Given the description of an element on the screen output the (x, y) to click on. 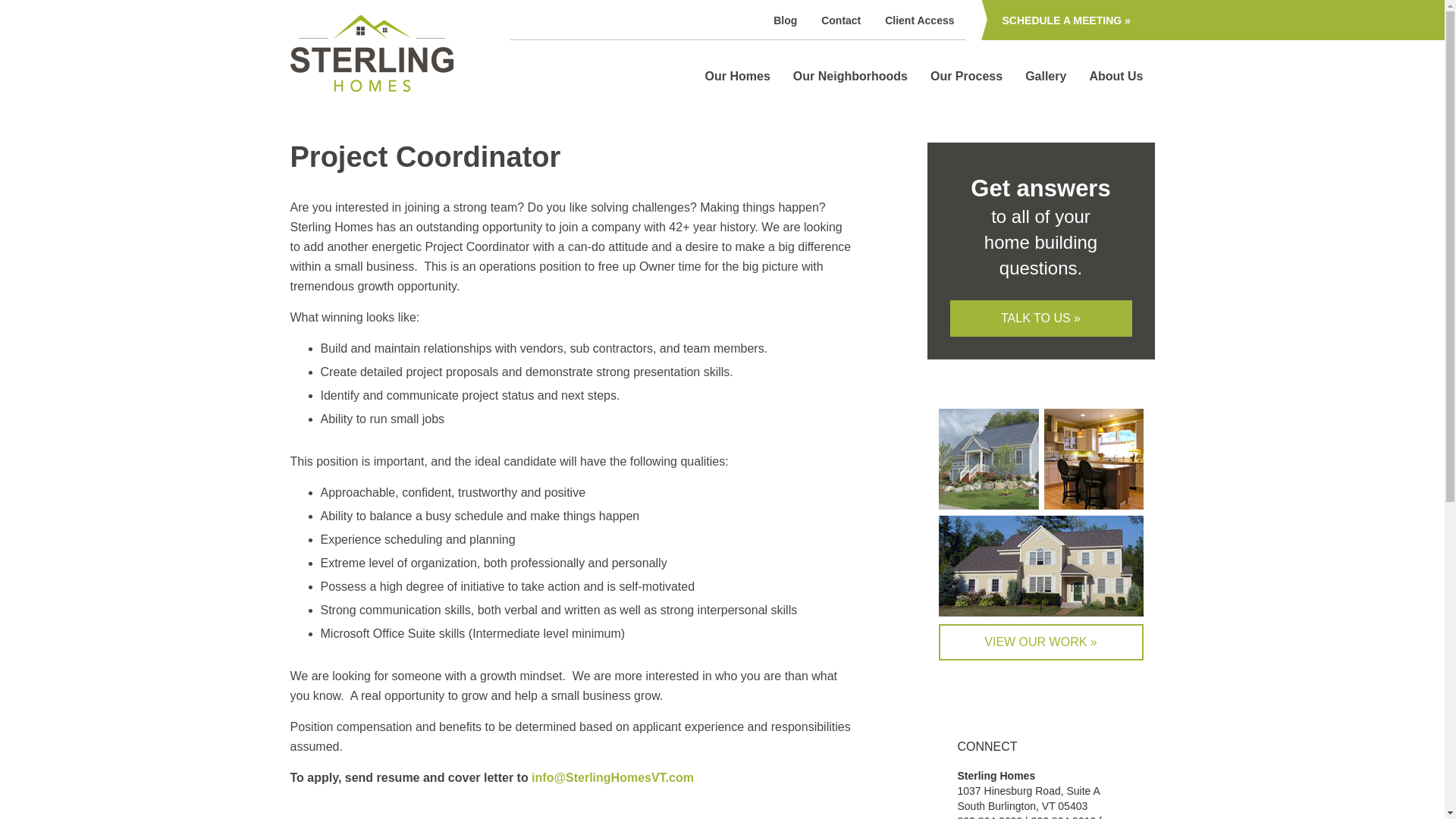
About Us (1103, 75)
Contact (840, 20)
Our Homes (726, 75)
Client Access (919, 20)
Gallery (1034, 75)
Blog (784, 20)
Our Neighborhoods (838, 75)
Our Process (955, 75)
